Given the description of an element on the screen output the (x, y) to click on. 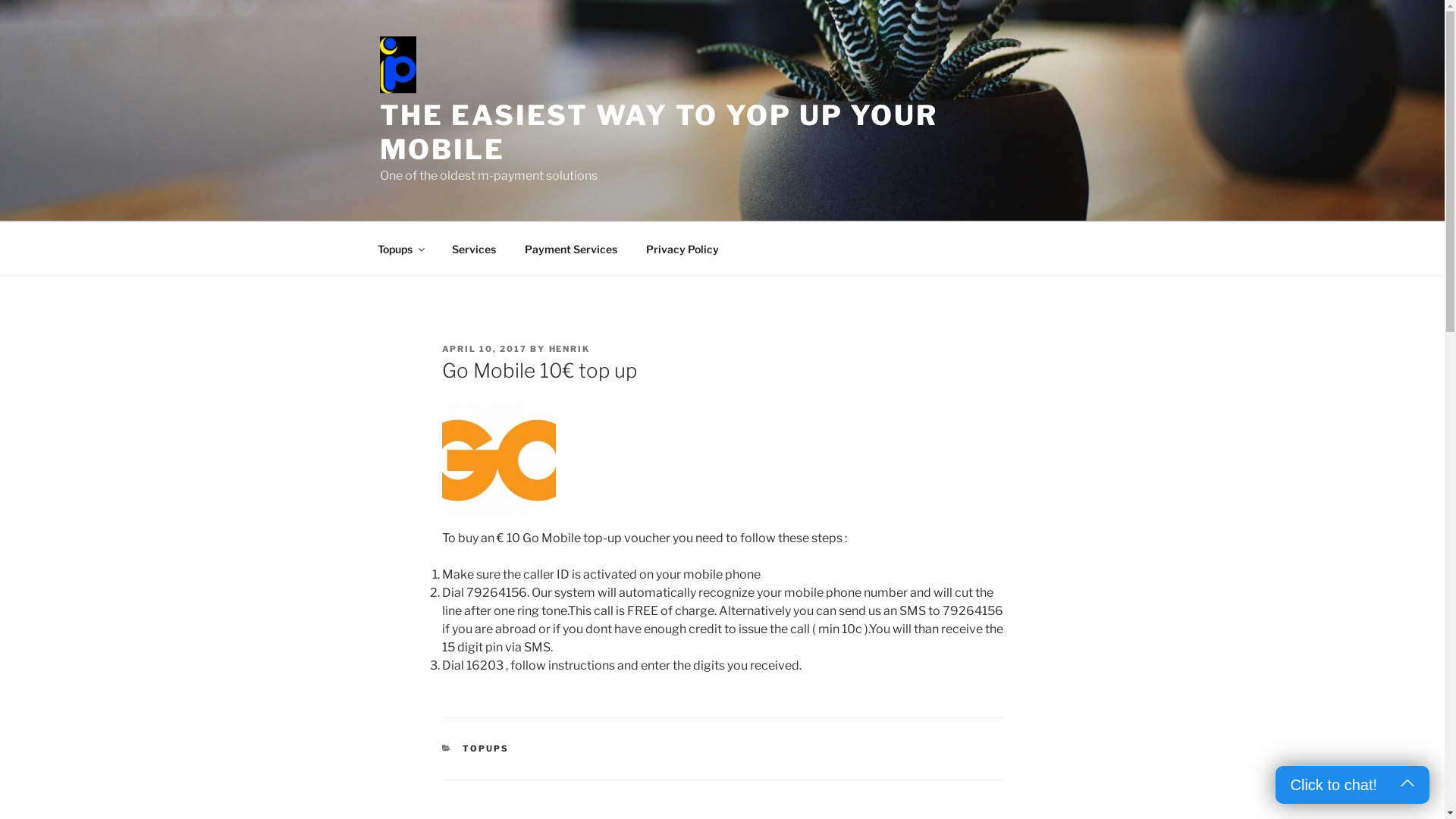
Payment Services Element type: text (570, 248)
Topups Element type: text (400, 248)
Privacy Policy Element type: text (681, 248)
THE EASIEST WAY TO YOP UP YOUR MOBILE Element type: text (658, 132)
HENRIK Element type: text (569, 348)
APRIL 10, 2017 Element type: text (484, 348)
Services Element type: text (473, 248)
TOPUPS Element type: text (485, 748)
